Given the description of an element on the screen output the (x, y) to click on. 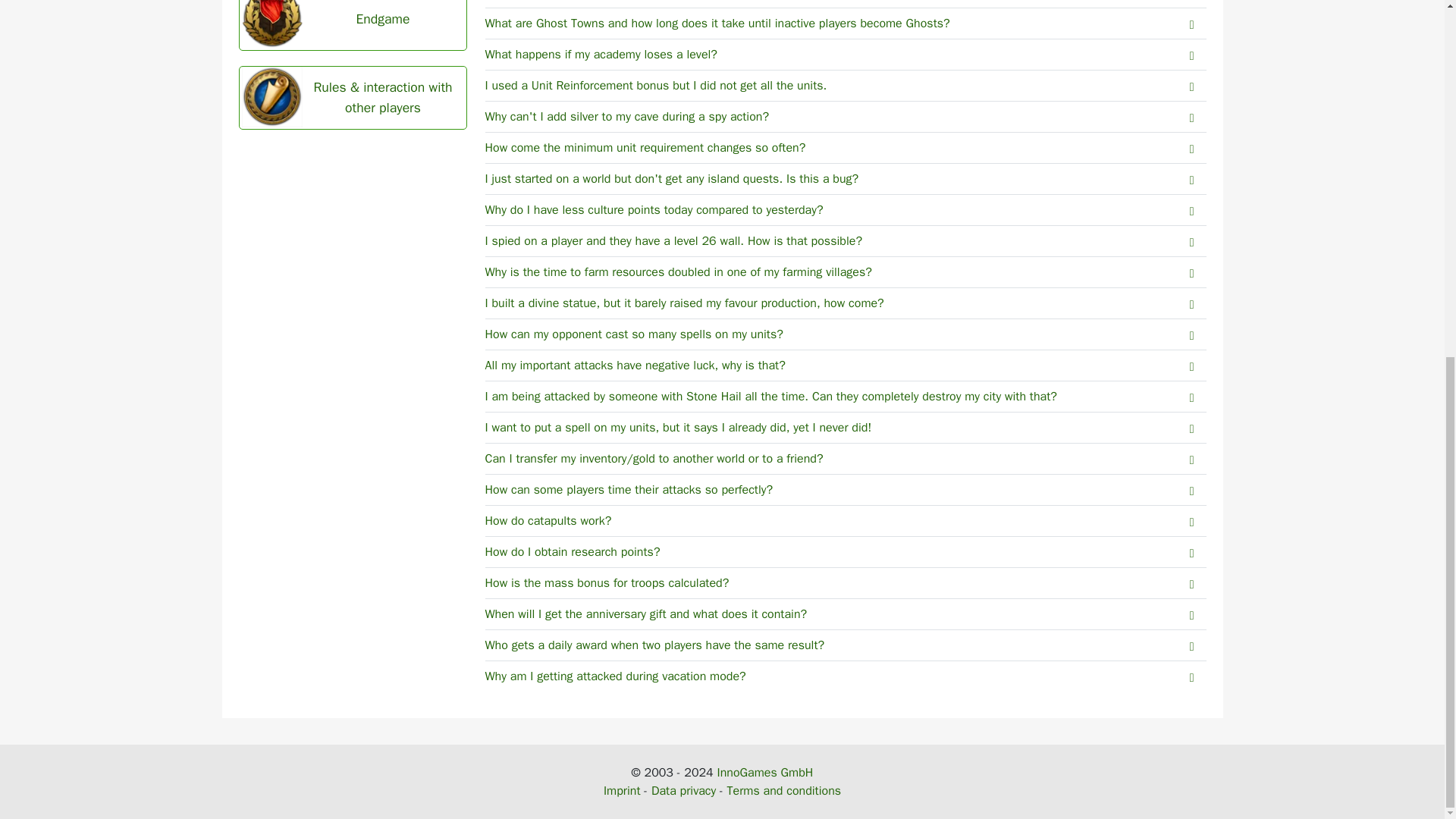
All my important attacks have negative luck, why is that? (845, 365)
How can some players time their attacks so perfectly? (845, 490)
Why can't I add silver to my cave during a spy action? (845, 116)
How is the mass bonus for troops calculated? (845, 583)
How can my opponent cast so many spells on my units? (845, 334)
When will a world close for good? What are the requirements? (845, 4)
How do I obtain research points? (845, 552)
How do catapults work? (845, 521)
Endgame (352, 24)
